Given the description of an element on the screen output the (x, y) to click on. 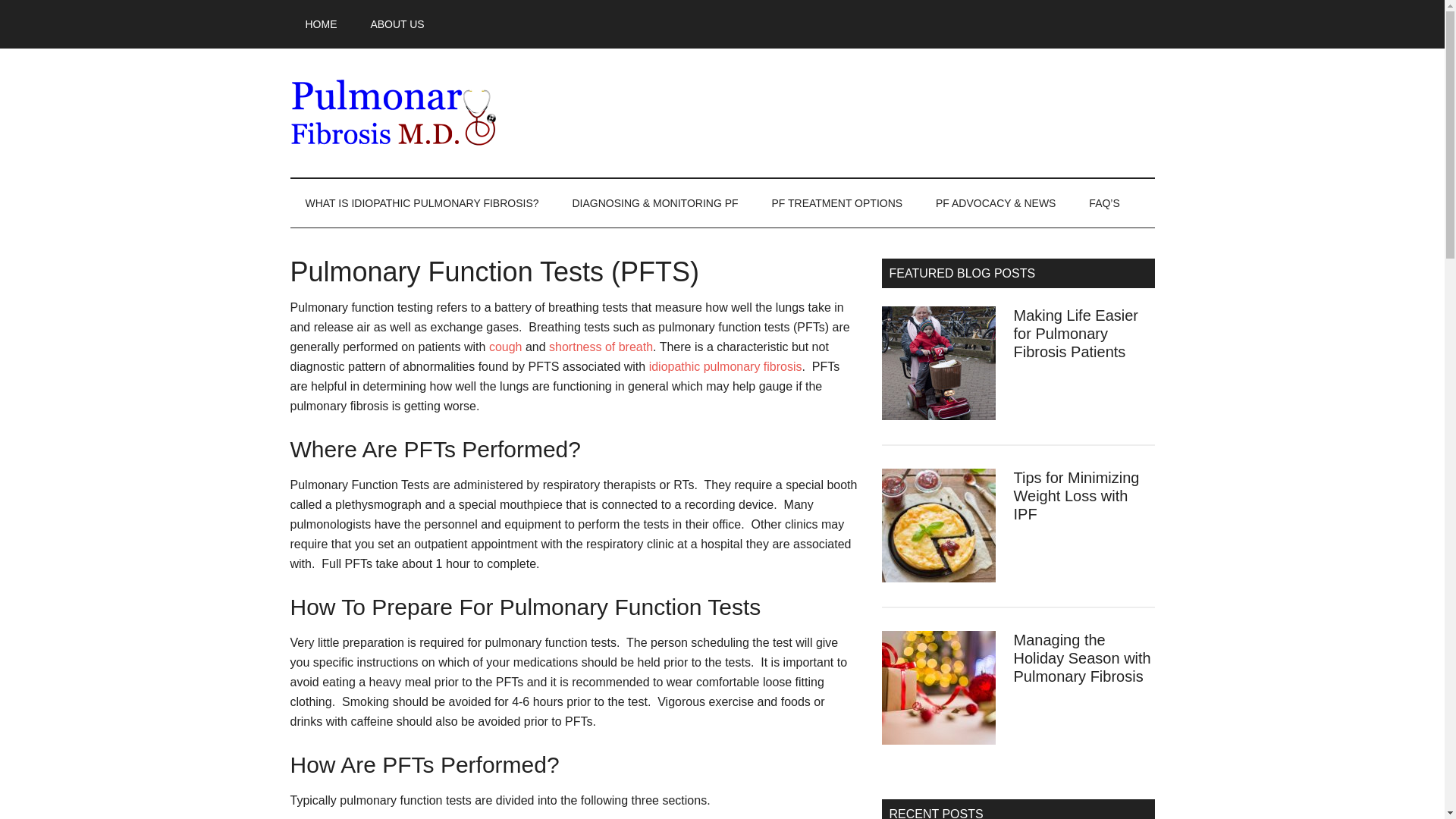
ABOUT US (397, 24)
PF TREATMENT OPTIONS (836, 203)
HOME (320, 24)
WHAT IS IDIOPATHIC PULMONARY FIBROSIS? (421, 203)
Idiopathic Pulmonary Fibrosis (433, 112)
What is Idiopathic Pulmonary Fibrosis (421, 203)
